Given the description of an element on the screen output the (x, y) to click on. 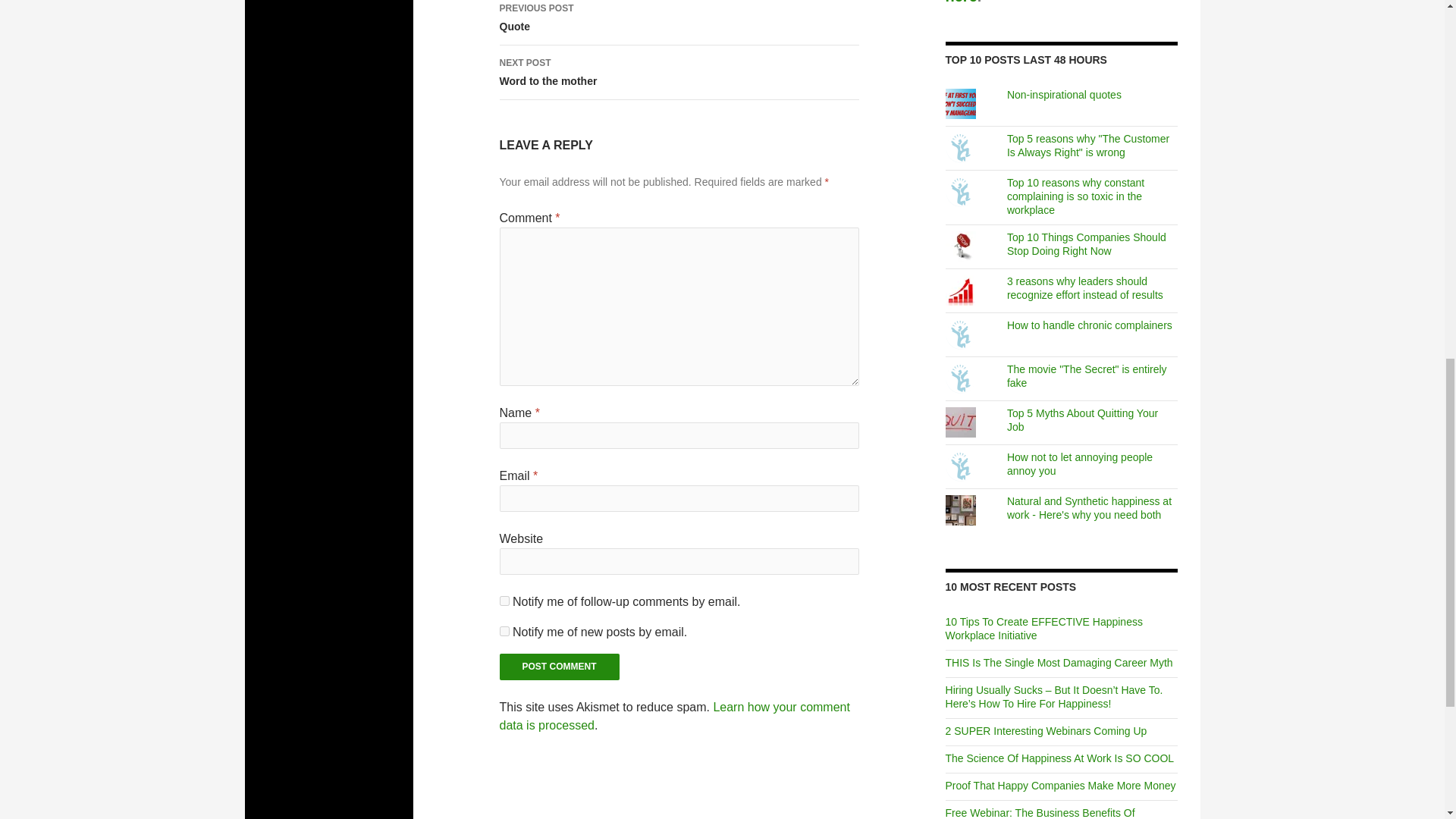
Post Comment (679, 72)
Top 5 reasons why "The Customer Is Always Right" is wrong (559, 666)
Post Comment (1088, 145)
subscribe (559, 666)
Learn how your comment data is processed (679, 22)
Non-inspirational quotes (504, 631)
Subscribe to our newsletter here (674, 716)
Non-inspirational quotes (1064, 94)
subscribe (1044, 2)
